Given the description of an element on the screen output the (x, y) to click on. 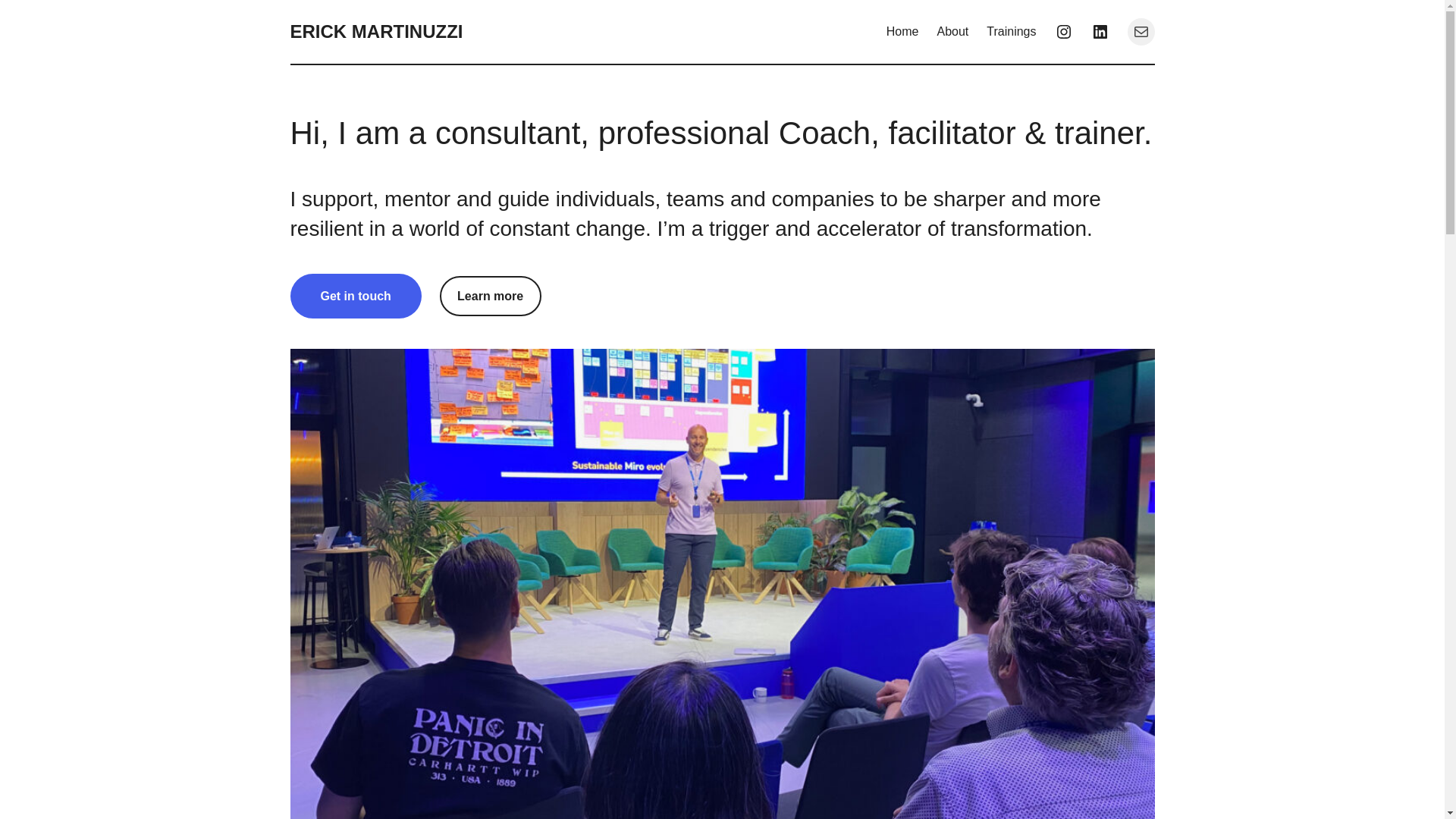
LinkedIn (1099, 31)
Trainings (1011, 31)
Learn more (490, 296)
Instagram (1062, 31)
Mail (1140, 31)
Get in touch (354, 295)
Home (902, 31)
About (952, 31)
ERICK MARTINUZZI (376, 31)
